Given the description of an element on the screen output the (x, y) to click on. 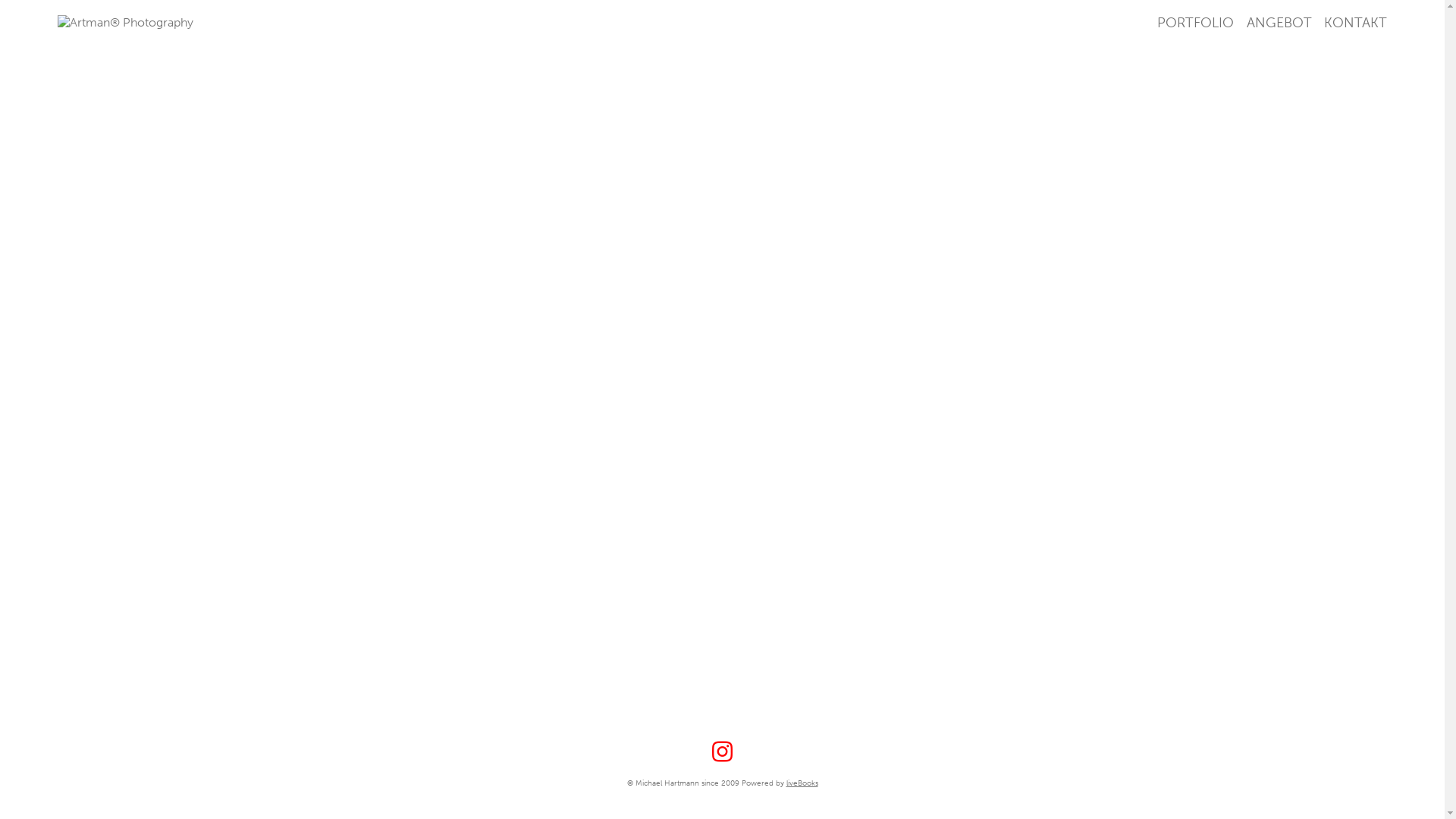
ANGEBOT Element type: text (1278, 22)
KONTAKT Element type: text (1355, 22)
liveBooks Element type: text (801, 782)
PORTFOLIO Element type: text (1195, 22)
